Given the description of an element on the screen output the (x, y) to click on. 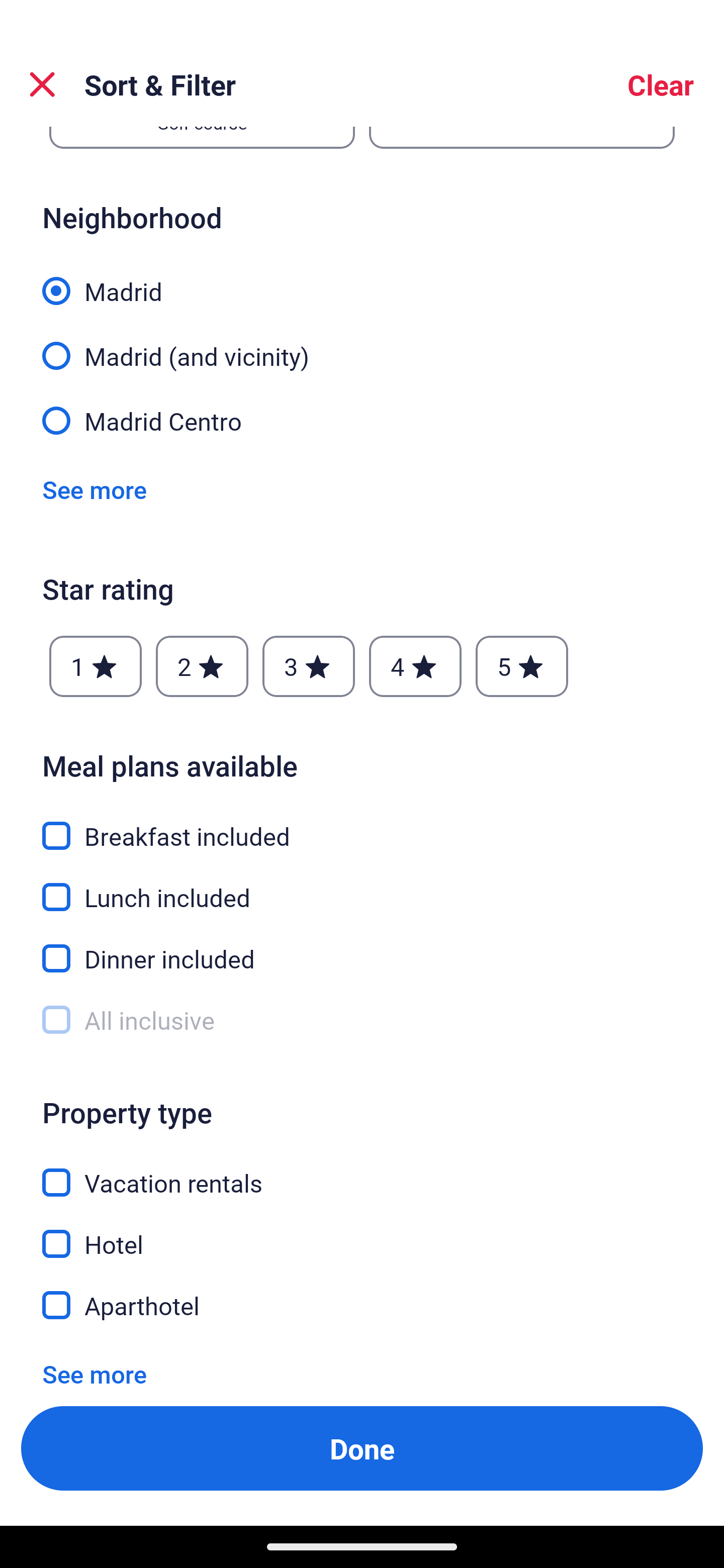
Close Sort and Filter (42, 84)
Clear (660, 84)
Madrid (and vicinity) (361, 344)
Madrid Centro (361, 419)
See more See more neighborhoods Link (93, 488)
1 (95, 666)
2 (201, 666)
3 (308, 666)
4 (415, 666)
5 (521, 666)
Breakfast included, Breakfast included (361, 824)
Lunch included, Lunch included (361, 886)
Dinner included, Dinner included (361, 947)
All inclusive, All inclusive (361, 1020)
Vacation rentals, Vacation rentals (361, 1171)
Hotel, Hotel (361, 1232)
Aparthotel, Aparthotel (361, 1305)
See more See more property types Link (93, 1368)
Apply and close Sort and Filter Done (361, 1448)
